Given the description of an element on the screen output the (x, y) to click on. 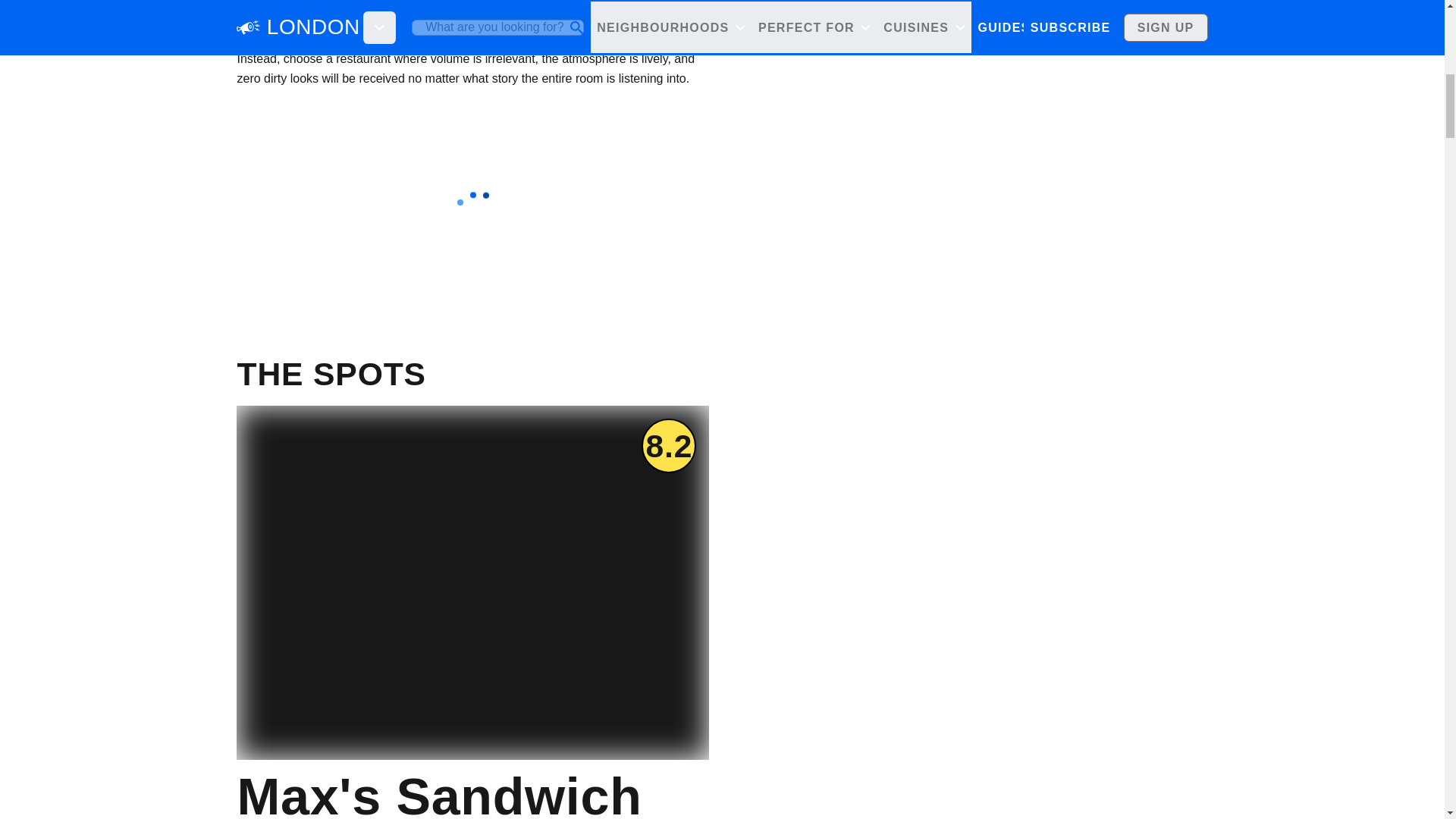
Max's Sandwich Shop (472, 789)
